Given the description of an element on the screen output the (x, y) to click on. 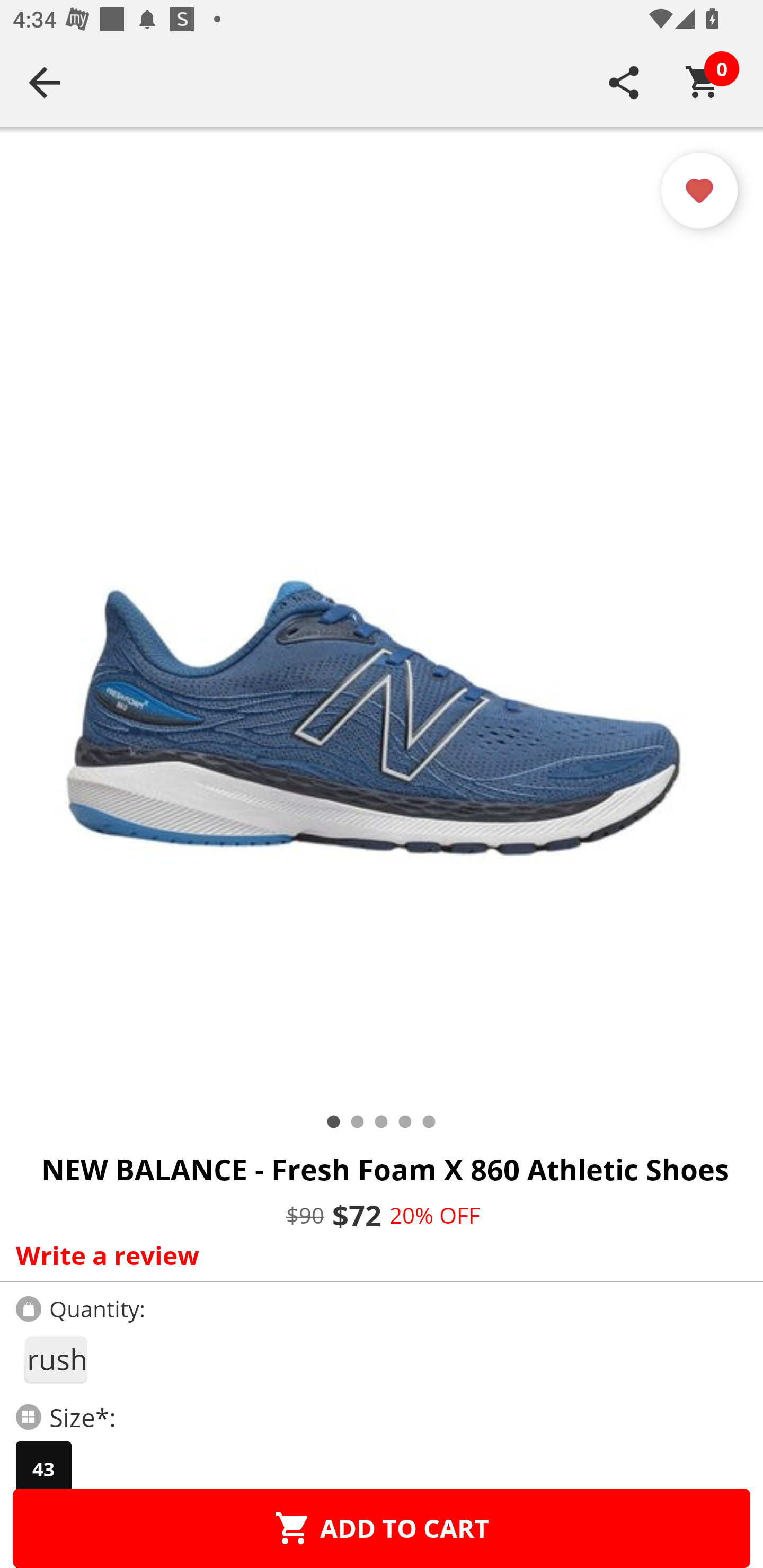
Navigate up (44, 82)
SHARE (623, 82)
Cart (703, 81)
Write a review (377, 1255)
1armchairtoothbrush (55, 1358)
43 (43, 1468)
ADD TO CART (381, 1528)
